Given the description of an element on the screen output the (x, y) to click on. 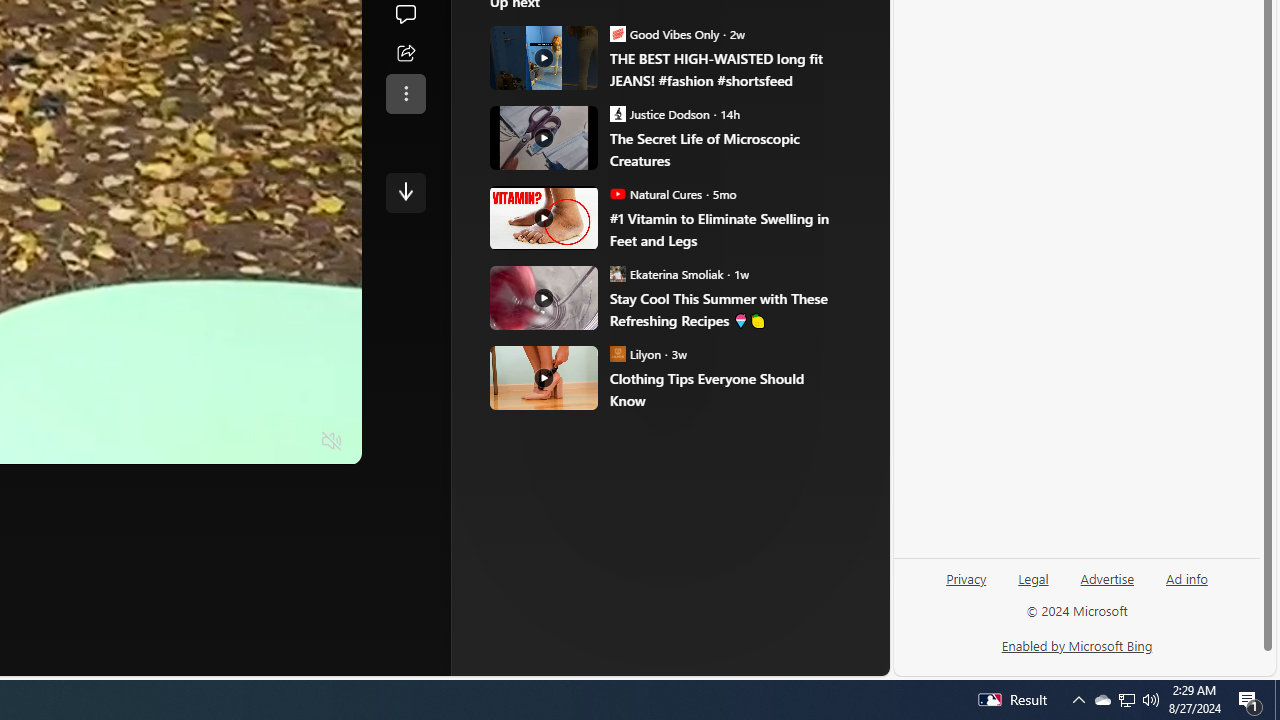
THE BEST HIGH-WAISTED long fit JEANS! #fashion #shortsfeed (543, 57)
Nordace (613, 337)
